Given the description of an element on the screen output the (x, y) to click on. 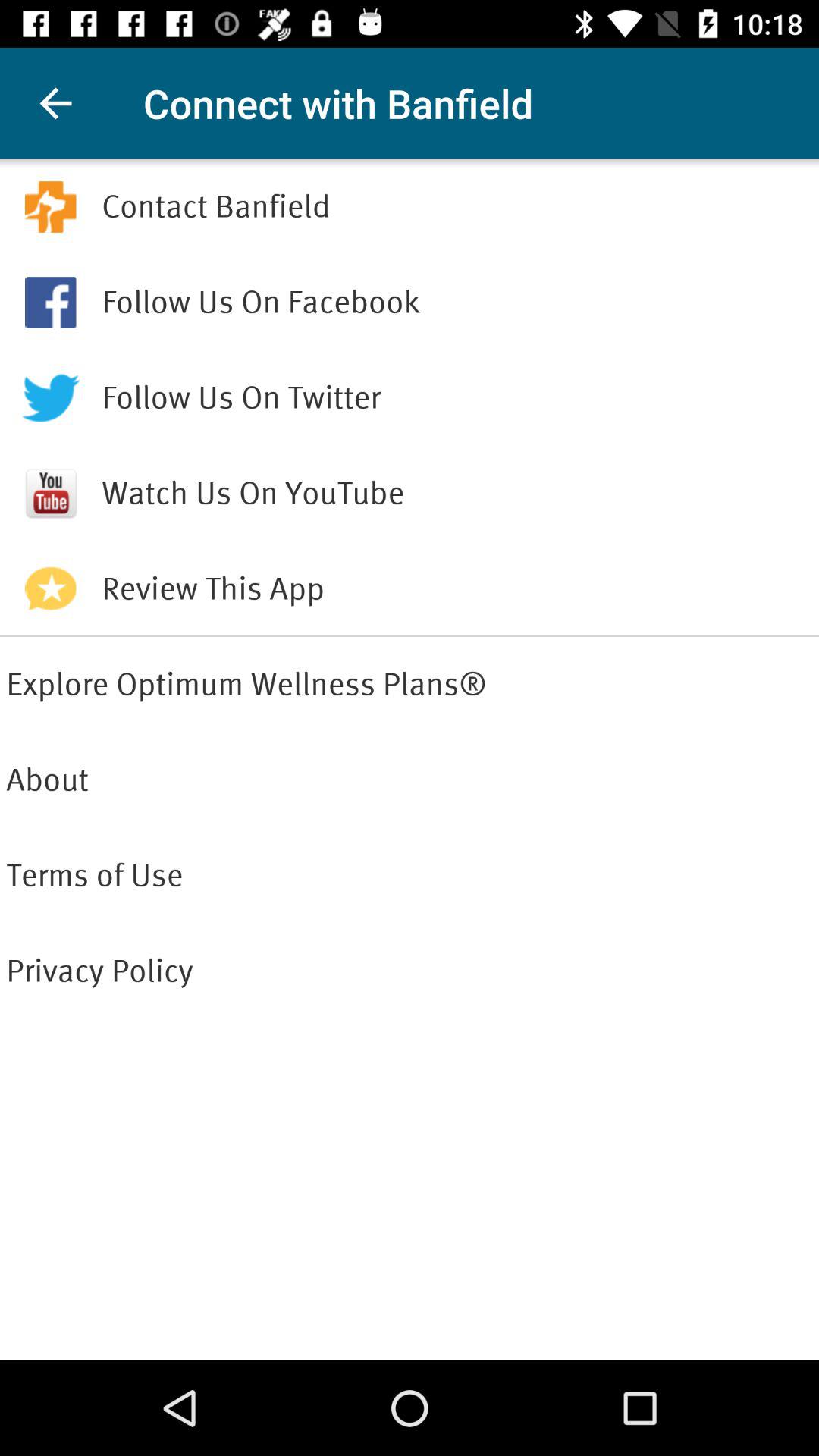
click the explore optimum wellness (409, 684)
